Given the description of an element on the screen output the (x, y) to click on. 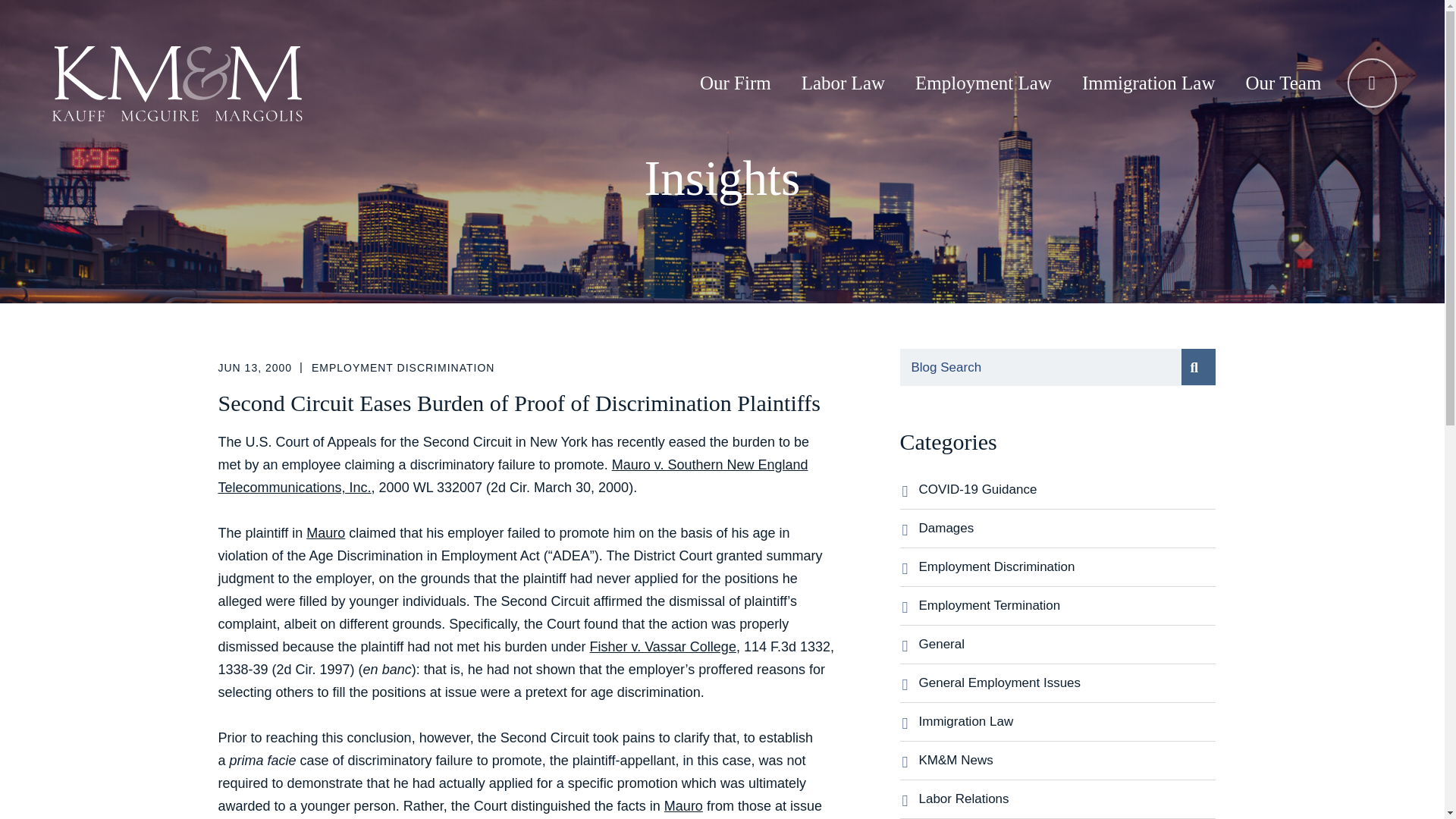
OPEN MENU (1372, 82)
Damages (1066, 528)
Labor Law (842, 82)
COVID-19 Guidance (1066, 489)
Our Team (1282, 82)
Immigration Law (1149, 82)
EMPLOYMENT DISCRIMINATION (403, 367)
Our Firm (734, 82)
Employment Law (983, 82)
